Given the description of an element on the screen output the (x, y) to click on. 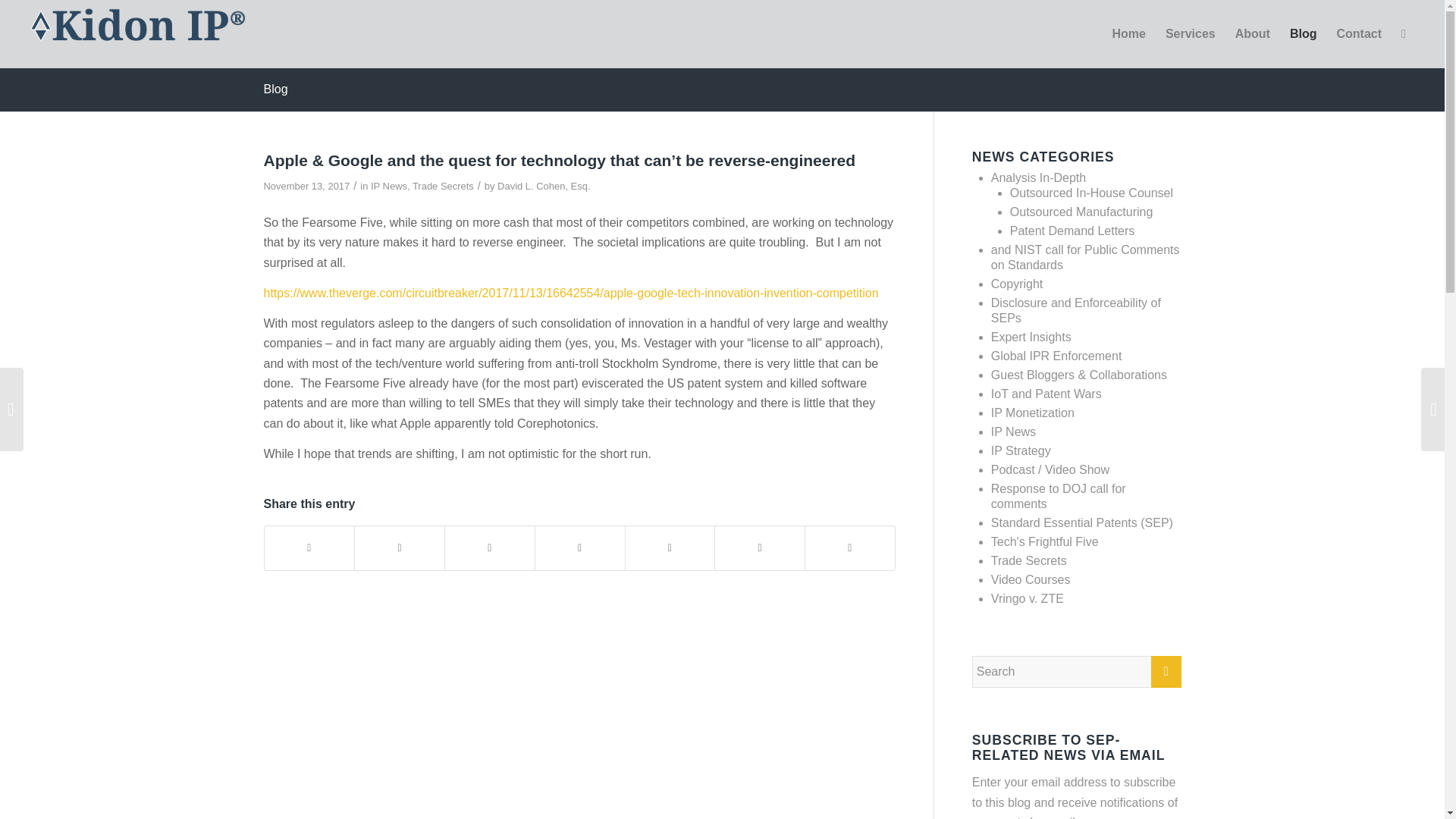
Expert Insights (1031, 336)
Permanent Link: Blog (275, 88)
Blog (275, 88)
Posts by David L. Cohen, Esq. (543, 185)
Disclosure and Enforceability of SEPs (1075, 310)
Outsourced Manufacturing (1081, 211)
Outsourced In-House Counsel (1091, 192)
Copyright (1016, 283)
IoT and Patent Wars (1046, 393)
David L. Cohen, Esq. (543, 185)
